Given the description of an element on the screen output the (x, y) to click on. 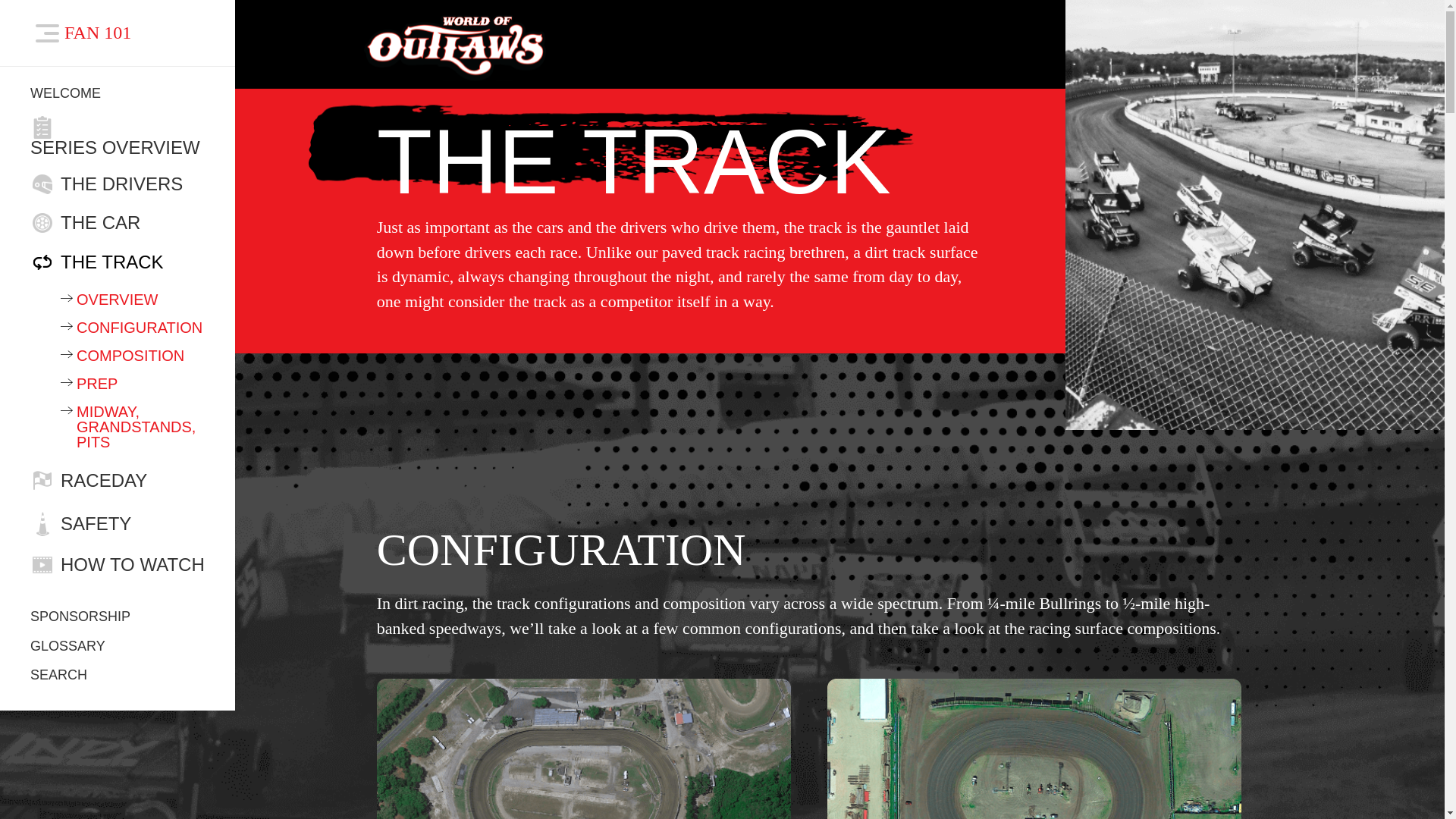
THE CAR (117, 222)
GLOSSARY (117, 646)
SPONSORSHIP (117, 609)
SAFETY (117, 523)
PREP (133, 383)
SERIES OVERVIEW (117, 135)
OVERVIEW (133, 299)
MIDWAY, GRANDSTANDS, PITS (133, 426)
RACEDAY (117, 480)
THE DRIVERS (117, 184)
COMPOSITION (133, 355)
WELCOME (117, 93)
THE TRACK (117, 261)
HOW TO WATCH (117, 564)
CONFIGURATION (133, 327)
